Given the description of an element on the screen output the (x, y) to click on. 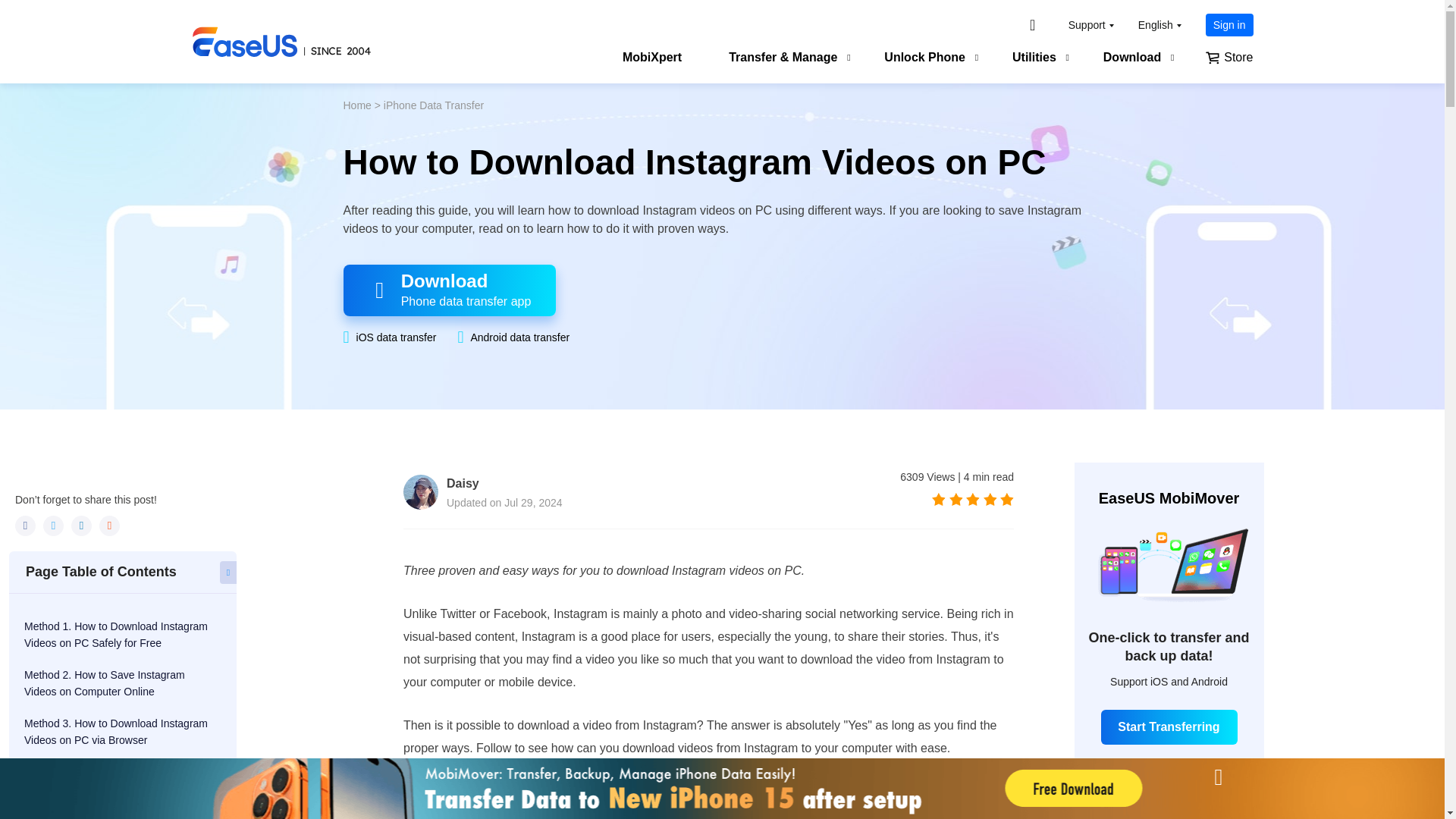
good (990, 499)
bad (937, 499)
MobiXpert (651, 59)
gorgeous (1006, 499)
  Store (1228, 59)
regular (972, 499)
Sign in (1229, 24)
poor (955, 499)
